Given the description of an element on the screen output the (x, y) to click on. 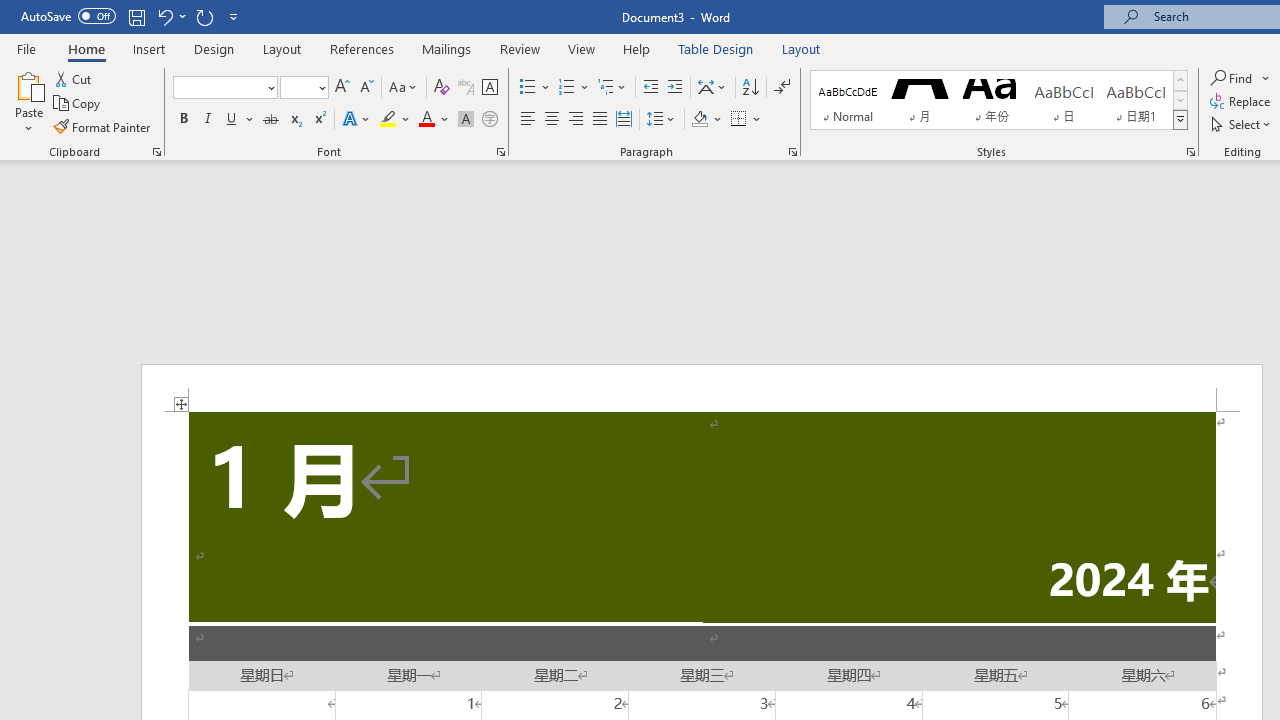
Text Highlight Color (395, 119)
Character Shading (465, 119)
Align Right (575, 119)
Bold (183, 119)
Subscript (294, 119)
Office Clipboard... (156, 151)
Header -Section 1- (701, 387)
Cut (73, 78)
Replace... (1242, 101)
